Given the description of an element on the screen output the (x, y) to click on. 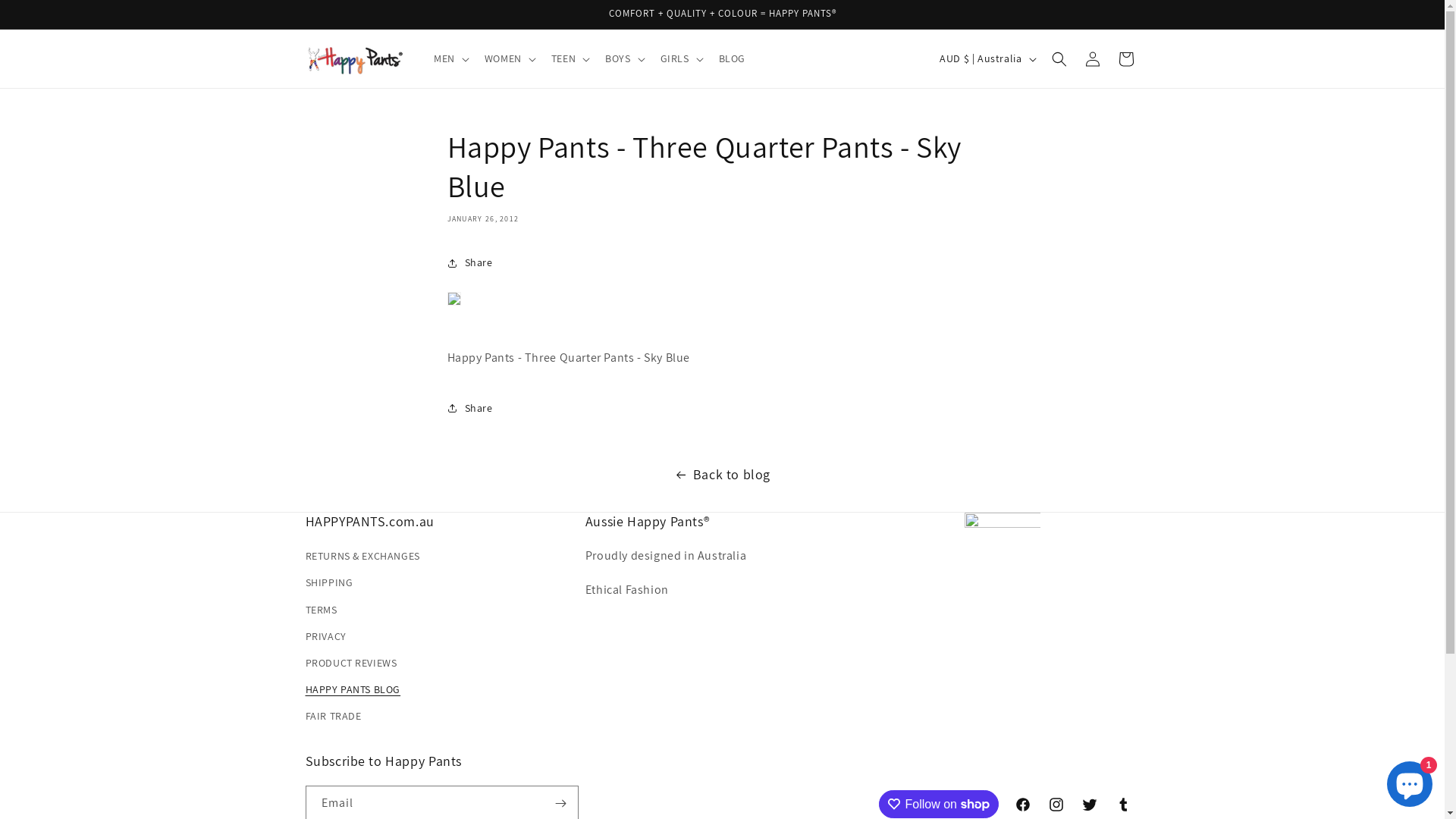
PRODUCT REVIEWS Element type: text (350, 662)
Log in Element type: text (1091, 58)
BLOG Element type: text (731, 58)
Shopify online store chat Element type: hover (1409, 780)
Back to blog Element type: text (722, 474)
SHIPPING Element type: text (328, 582)
FAIR TRADE Element type: text (332, 715)
RETURNS & EXCHANGES Element type: text (361, 557)
HAPPY PANTS BLOG Element type: text (352, 689)
TERMS Element type: text (320, 609)
AUD $ | Australia Element type: text (985, 57)
PRIVACY Element type: text (324, 636)
Cart Element type: text (1125, 58)
